Given the description of an element on the screen output the (x, y) to click on. 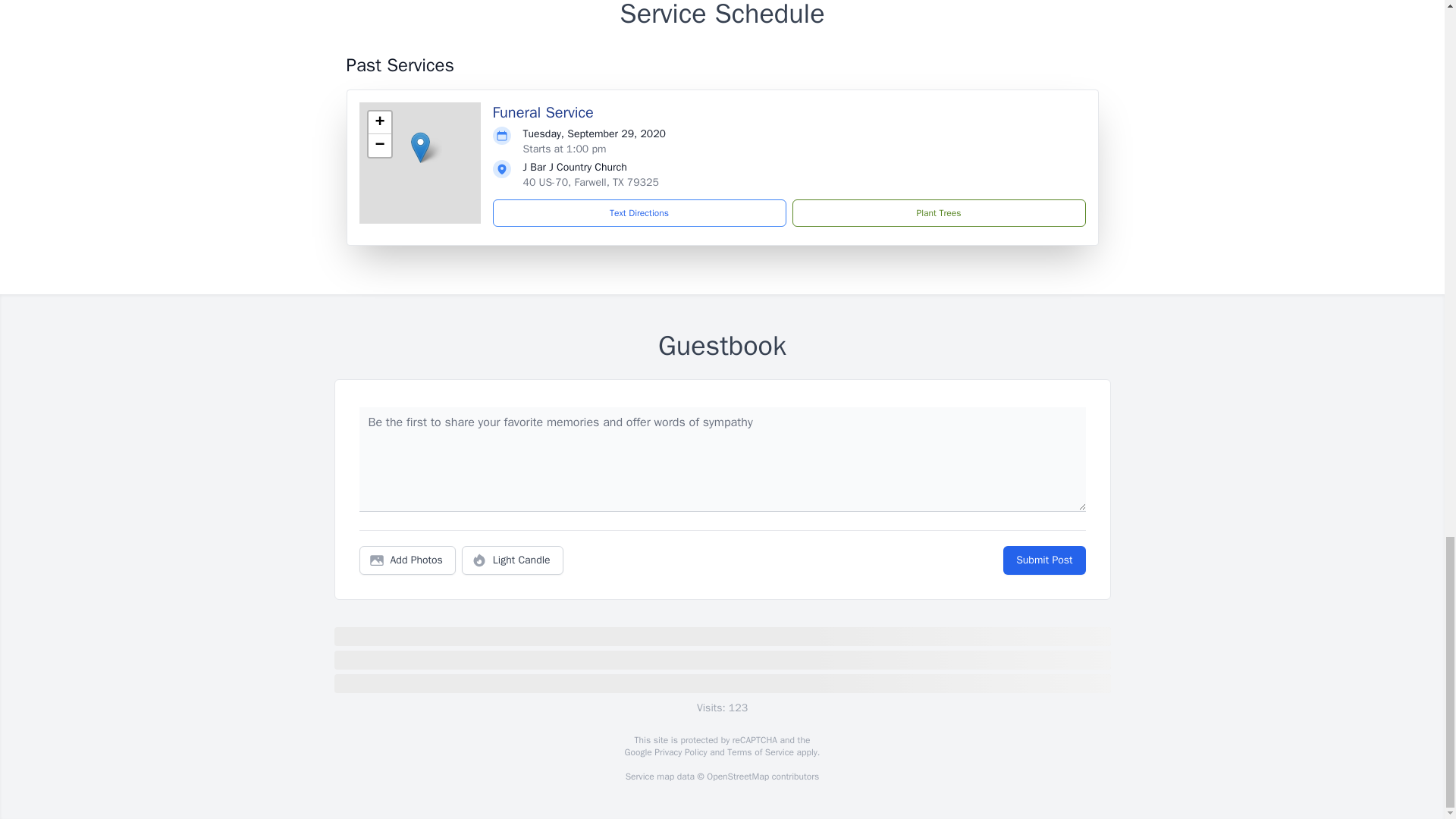
Add Photos (407, 560)
40 US-70, Farwell, TX 79325 (590, 182)
Light Candle (512, 560)
Submit Post (1043, 560)
Zoom out (379, 145)
OpenStreetMap (737, 776)
Privacy Policy (679, 752)
Plant Trees (938, 212)
Text Directions (639, 212)
Zoom in (379, 122)
Terms of Service (759, 752)
